Given the description of an element on the screen output the (x, y) to click on. 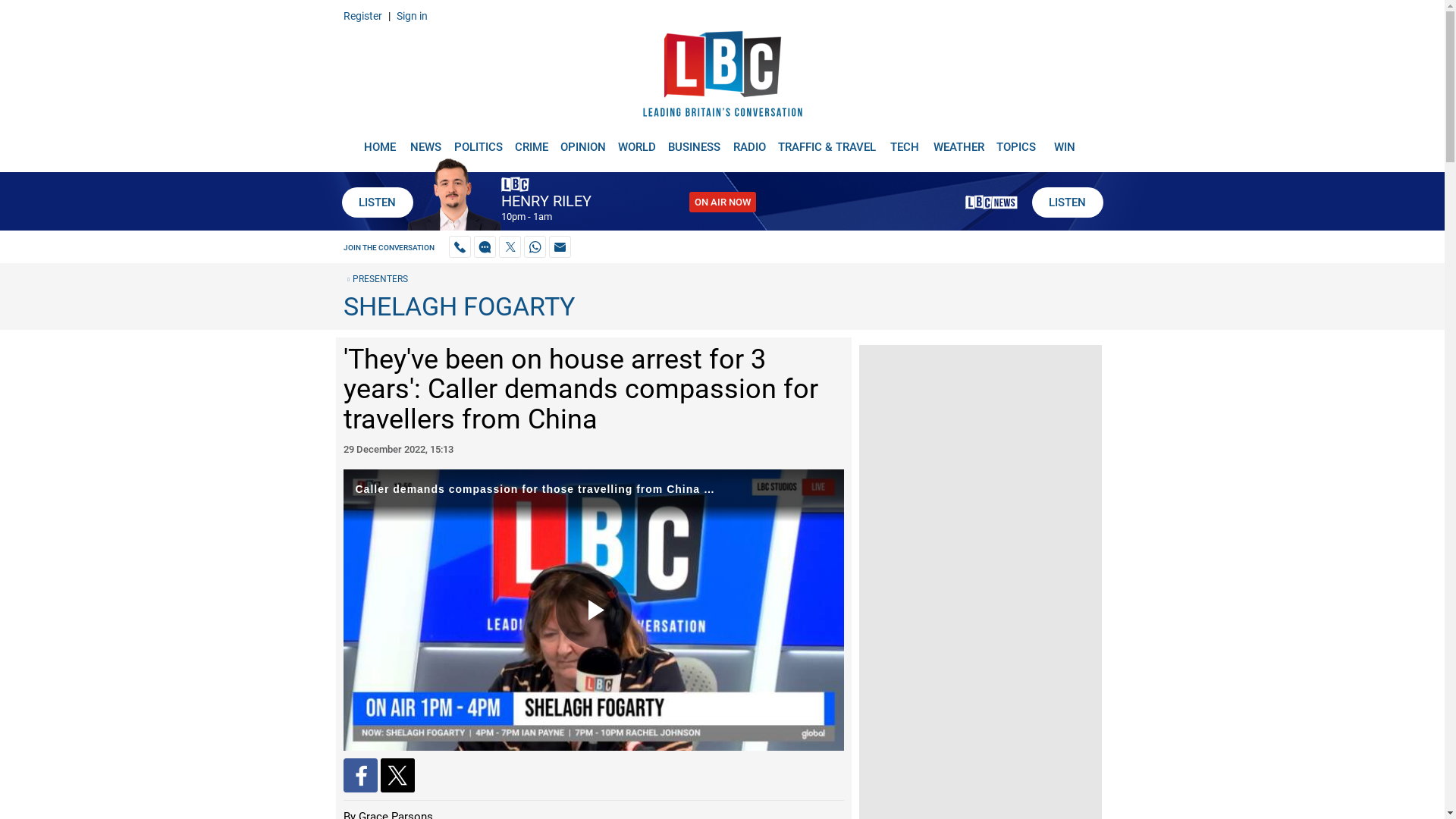
BUSINESS (694, 140)
NEWS (425, 140)
LISTEN (1066, 202)
TOPICS (1016, 140)
LBC (722, 77)
LISTEN (376, 202)
WORLD (636, 140)
WIN (1064, 140)
Register (361, 15)
CRIME (531, 140)
TECH (904, 140)
OPINION (582, 140)
RADIO (748, 140)
PRESENTERS (374, 278)
WEATHER (958, 140)
